Given the description of an element on the screen output the (x, y) to click on. 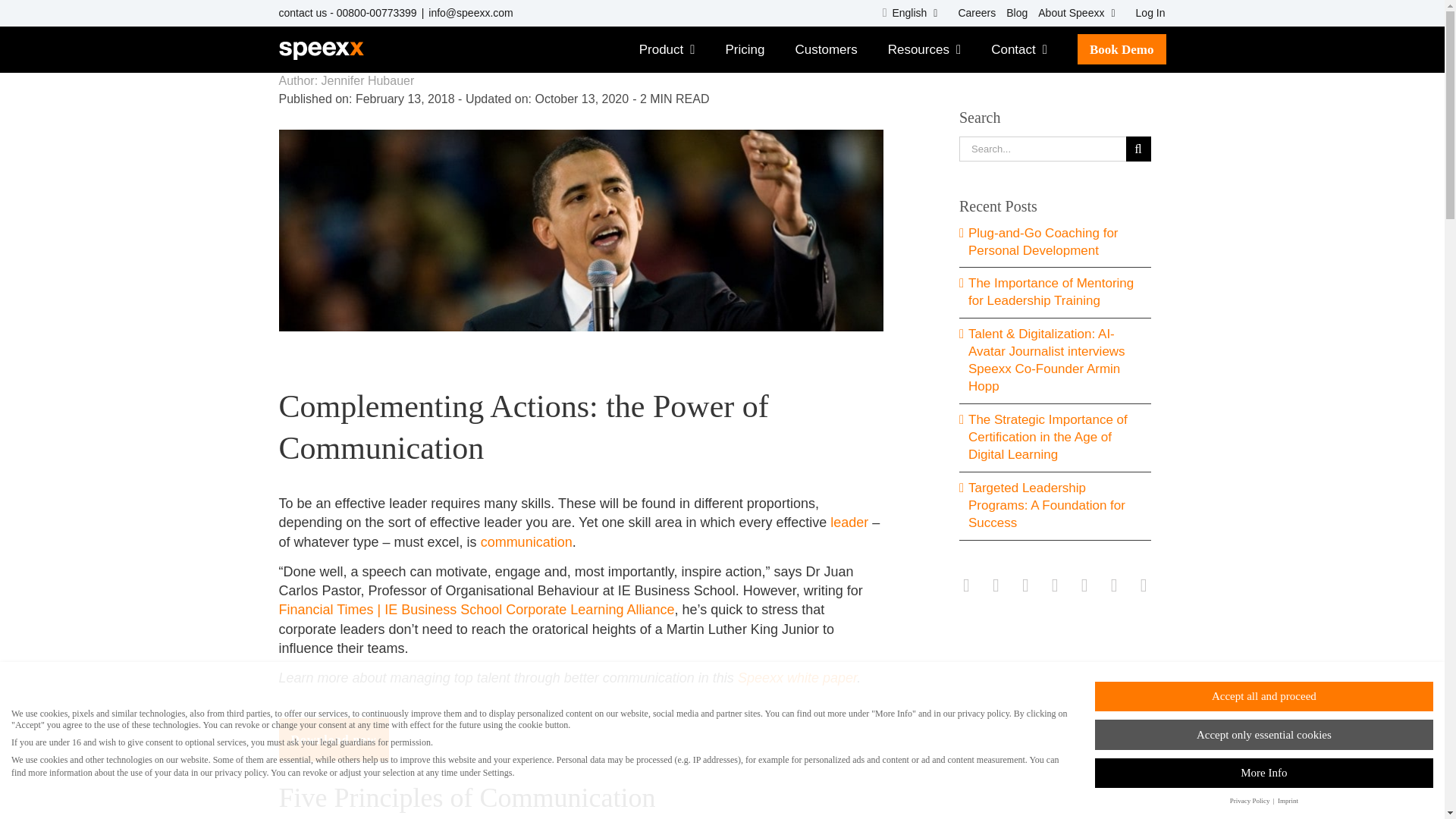
Blog (1011, 13)
English (909, 13)
00800-00773399 (376, 12)
Log In (1145, 13)
English (909, 13)
second-top-login (1145, 13)
second-top-career (971, 13)
About Speexx (1075, 13)
second-top-blog (1011, 13)
Product (667, 49)
